Given the description of an element on the screen output the (x, y) to click on. 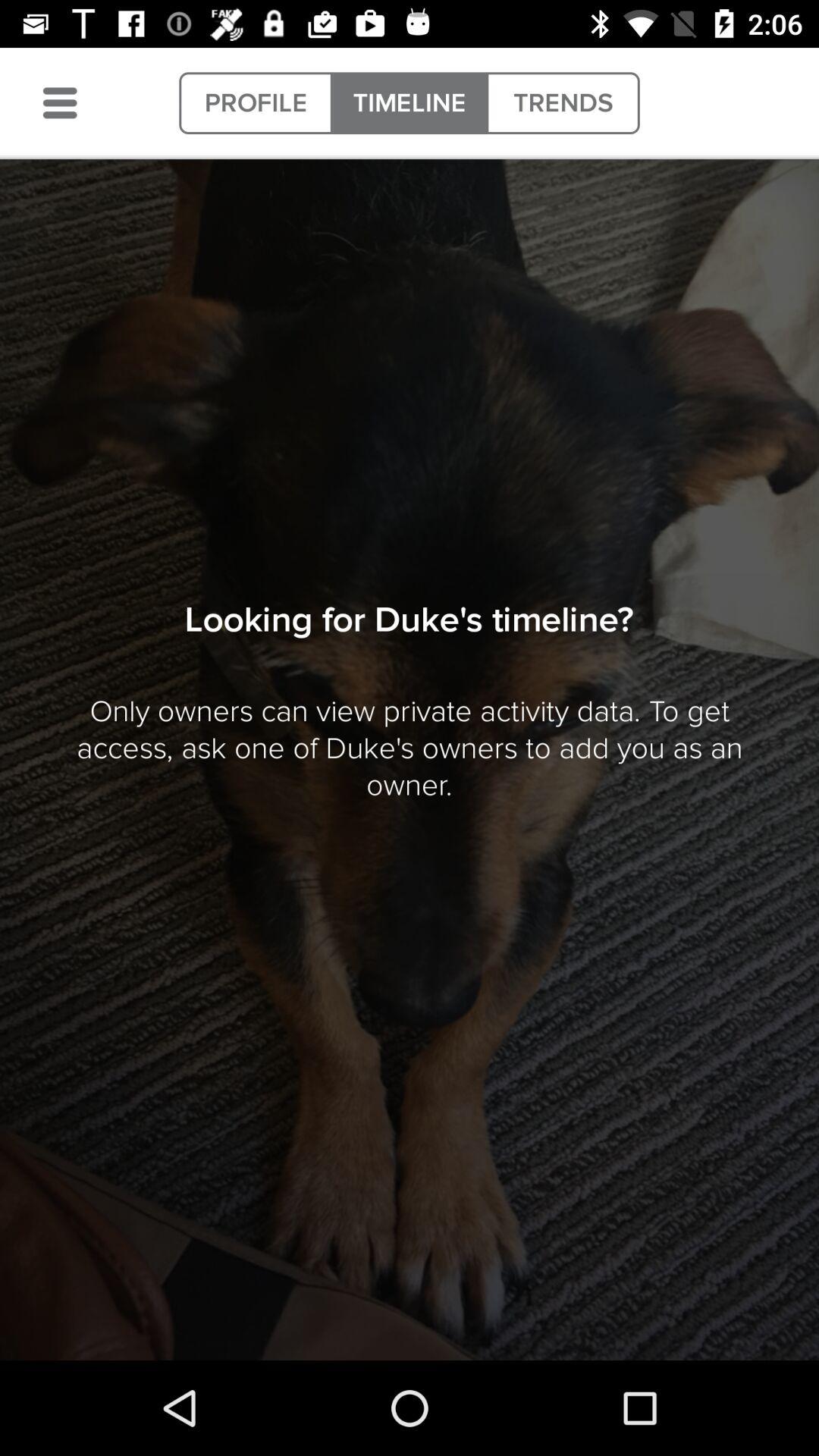
click the profile icon (255, 103)
